Given the description of an element on the screen output the (x, y) to click on. 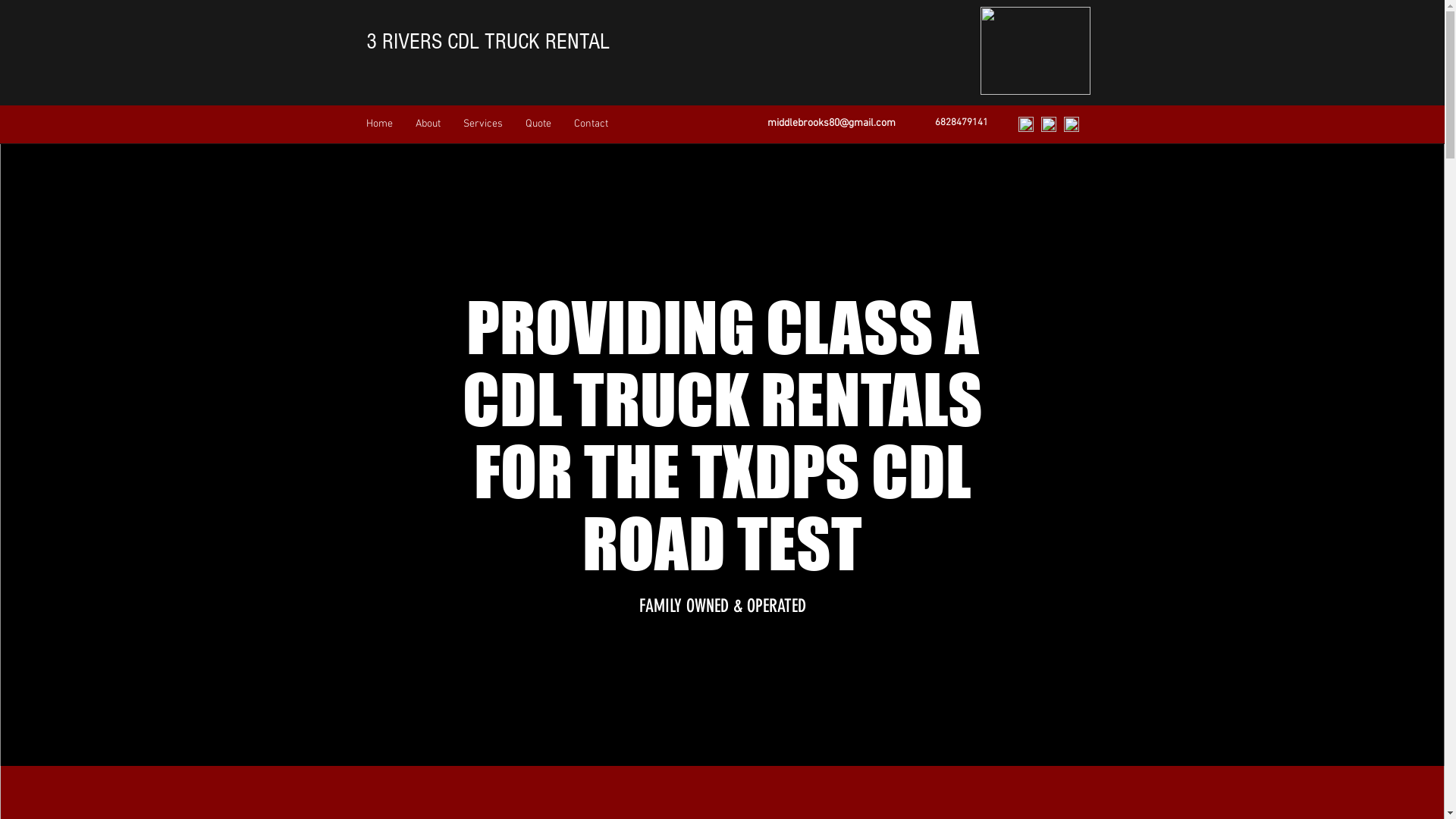
Contact Element type: text (590, 123)
Quote Element type: text (538, 123)
Services Element type: text (482, 123)
middlebrooks80@gmail.com Element type: text (831, 122)
Home Element type: text (379, 123)
About Element type: text (427, 123)
